Given the description of an element on the screen output the (x, y) to click on. 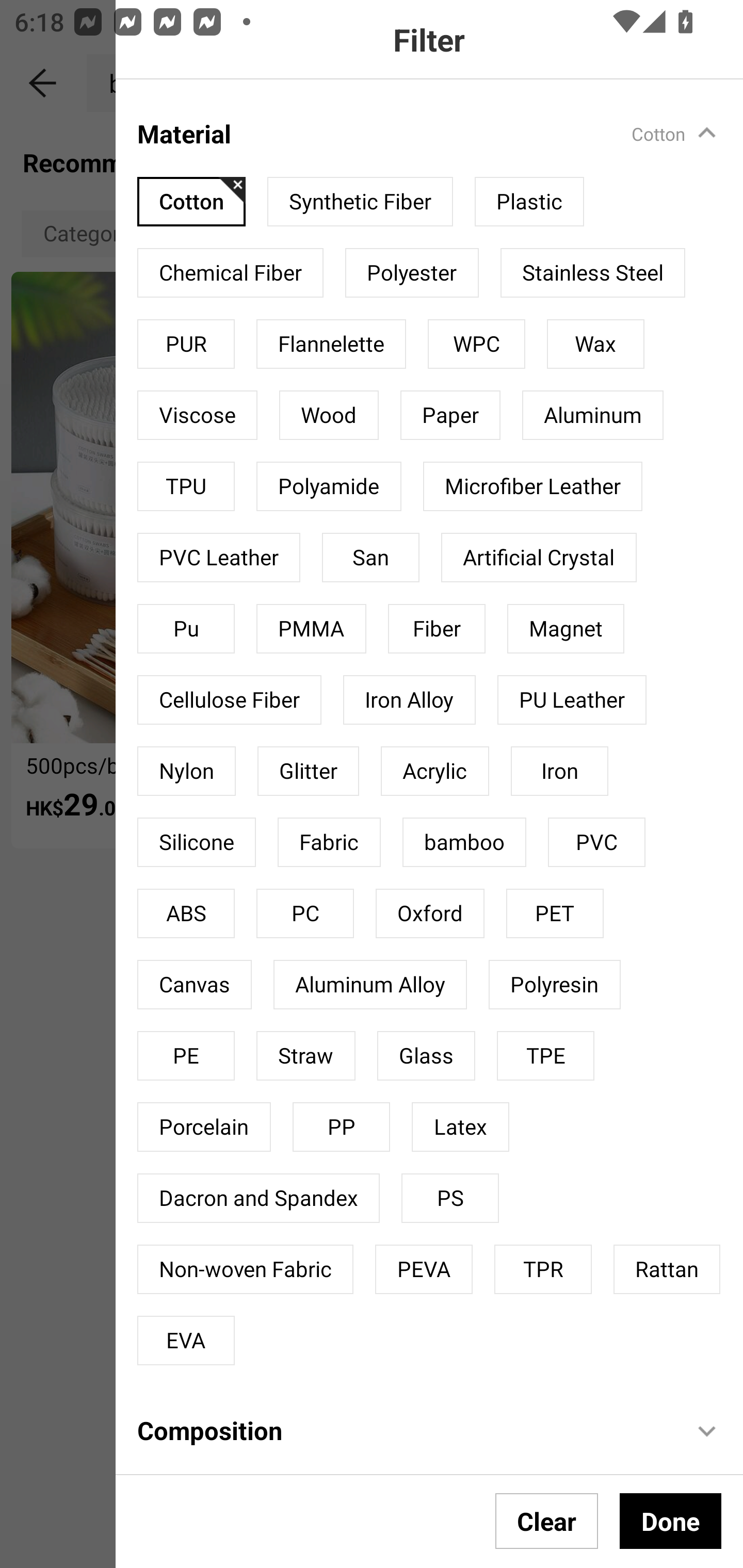
Material Cotton (440, 122)
Cotton (191, 201)
Synthetic Fiber (360, 201)
Plastic (528, 201)
Chemical Fiber (230, 272)
Polyester (411, 272)
Stainless Steel (592, 272)
PUR (185, 343)
Flannelette (331, 343)
WPC (476, 343)
Wax (595, 343)
Viscose (197, 415)
Wood (328, 415)
Paper (450, 415)
Aluminum (592, 415)
TPU (185, 485)
Polyamide (328, 485)
Microfiber Leather (532, 485)
PVC Leather (218, 557)
San (370, 557)
Artificial Crystal (538, 557)
Pu (185, 628)
PMMA (311, 628)
Fiber (436, 628)
Magnet (565, 628)
Cellulose Fiber (229, 699)
Iron Alloy (409, 699)
PU Leather (571, 699)
Nylon (186, 771)
Glitter (307, 771)
Acrylic (434, 771)
Iron (559, 771)
Silicone (196, 841)
Fabric (328, 841)
bamboo (464, 841)
PVC (596, 841)
ABS (185, 913)
PC (304, 913)
Oxford (429, 913)
PET (554, 913)
Canvas (194, 984)
Aluminum Alloy (369, 984)
Polyresin (554, 984)
PE (185, 1055)
Straw (305, 1055)
Glass (426, 1055)
TPE (545, 1055)
Porcelain (204, 1127)
PP (341, 1127)
Latex (459, 1127)
Dacron and Spandex (258, 1197)
PS (450, 1197)
Non-woven Fabric (245, 1268)
PEVA (423, 1268)
TPR (543, 1268)
Rattan (666, 1268)
EVA (185, 1340)
Composition (403, 1429)
Clear (546, 1520)
Done (670, 1520)
